Given the description of an element on the screen output the (x, y) to click on. 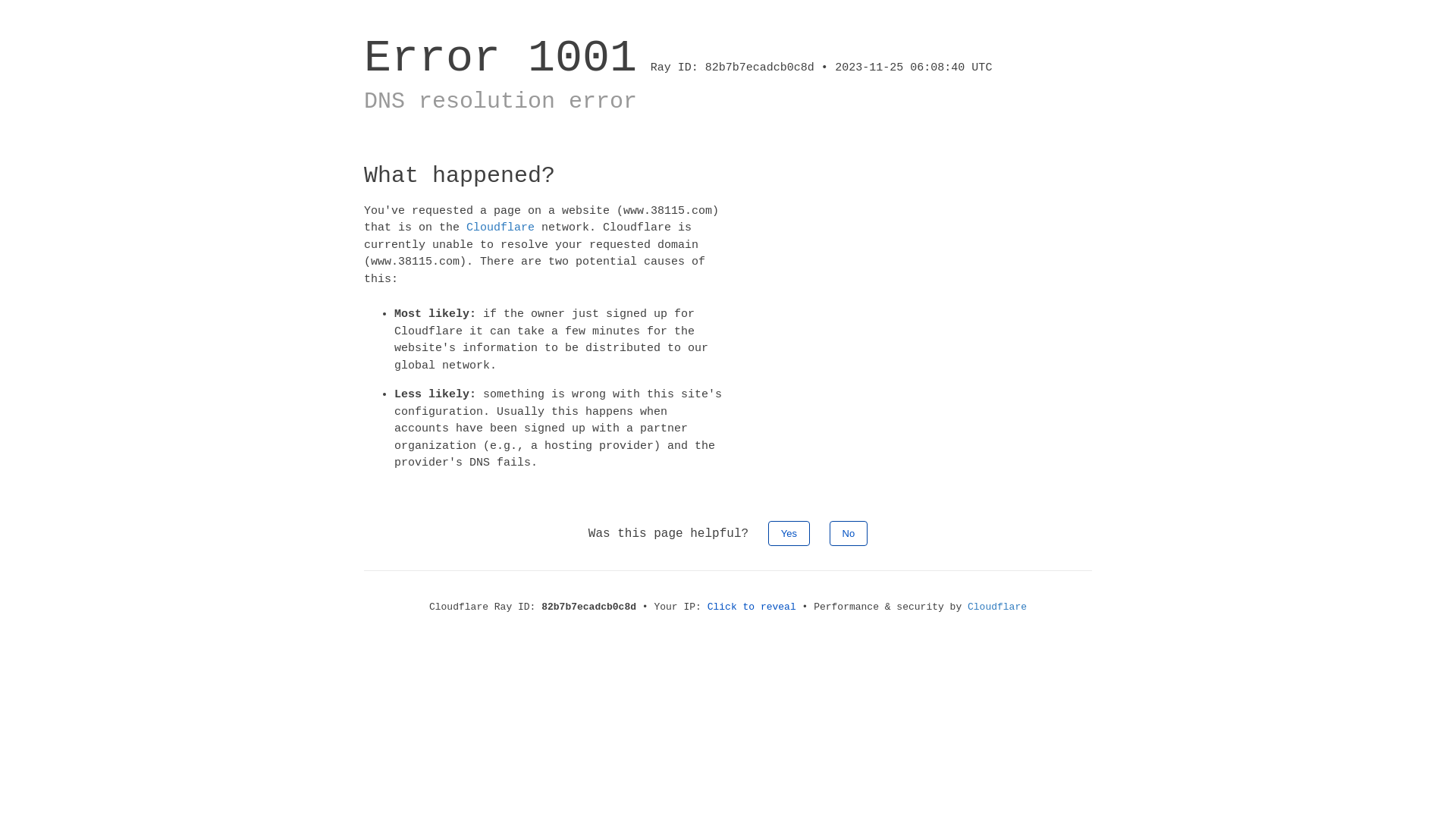
Click to reveal Element type: text (751, 605)
Cloudflare Element type: text (996, 605)
Yes Element type: text (788, 532)
Cloudflare Element type: text (500, 227)
No Element type: text (848, 532)
